Given the description of an element on the screen output the (x, y) to click on. 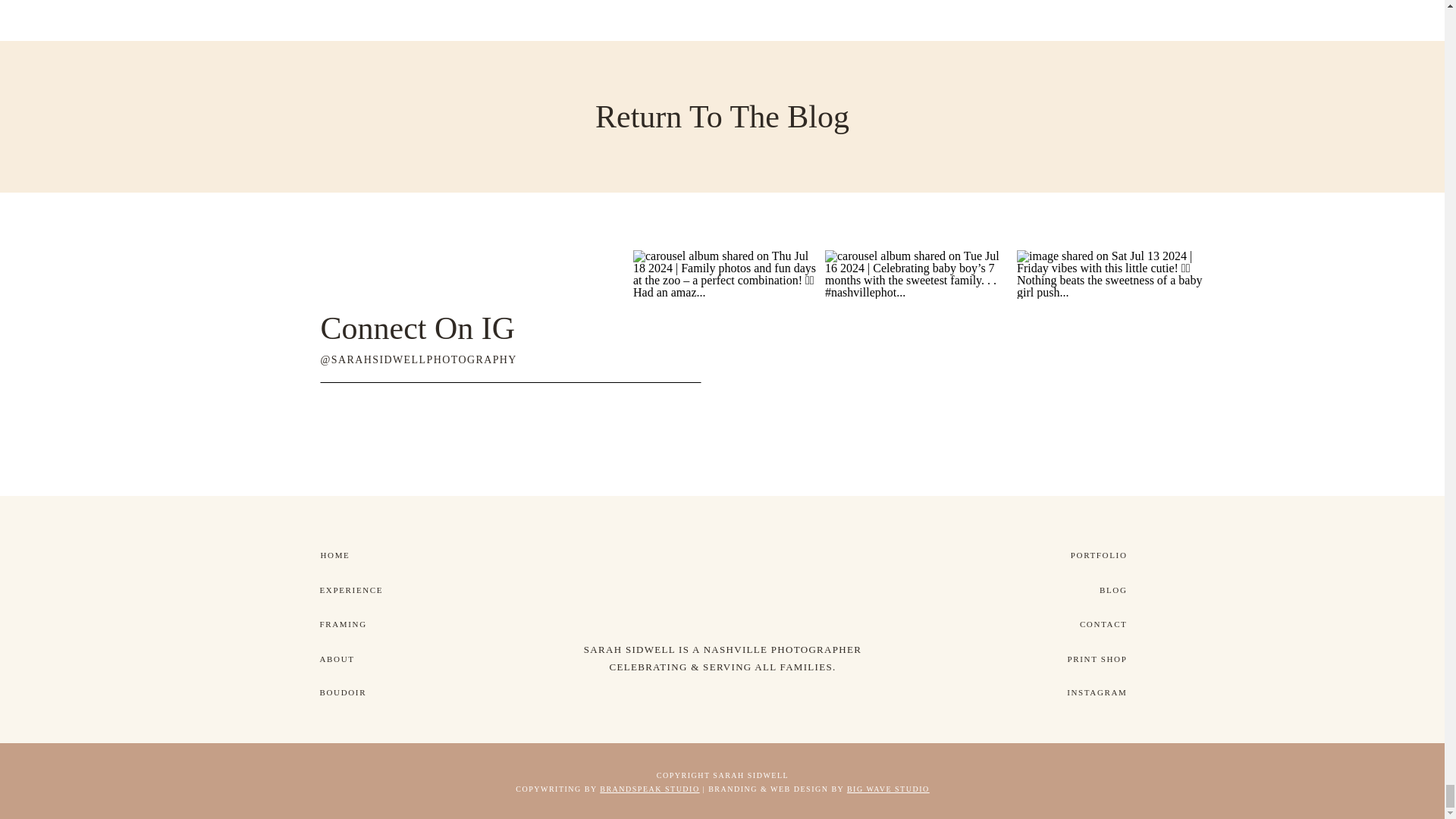
Return To The Blog (722, 116)
